Given the description of an element on the screen output the (x, y) to click on. 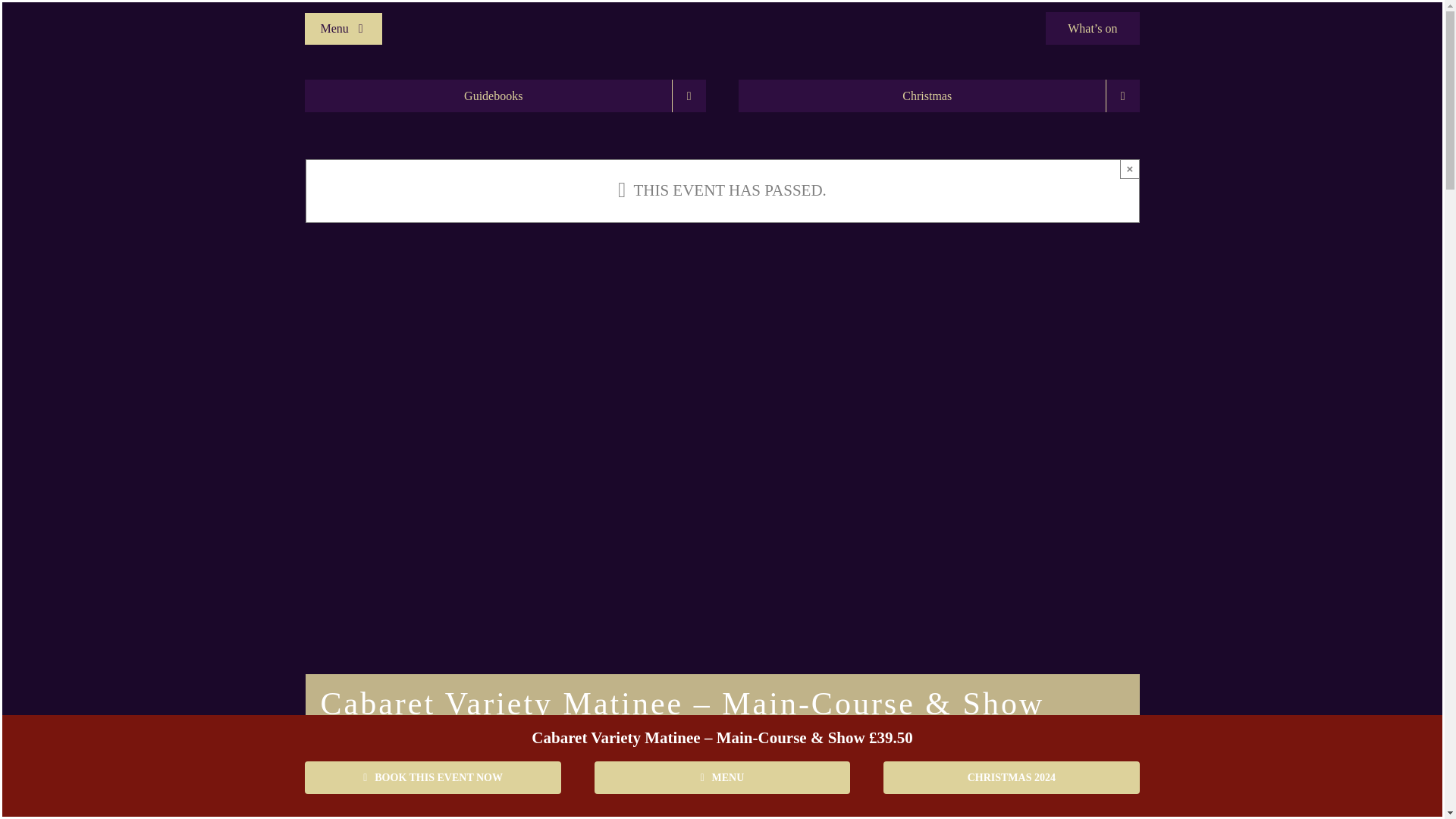
cabaretwhite (721, 8)
Christmas (938, 95)
Guidebooks (504, 95)
Menu (342, 28)
